Given the description of an element on the screen output the (x, y) to click on. 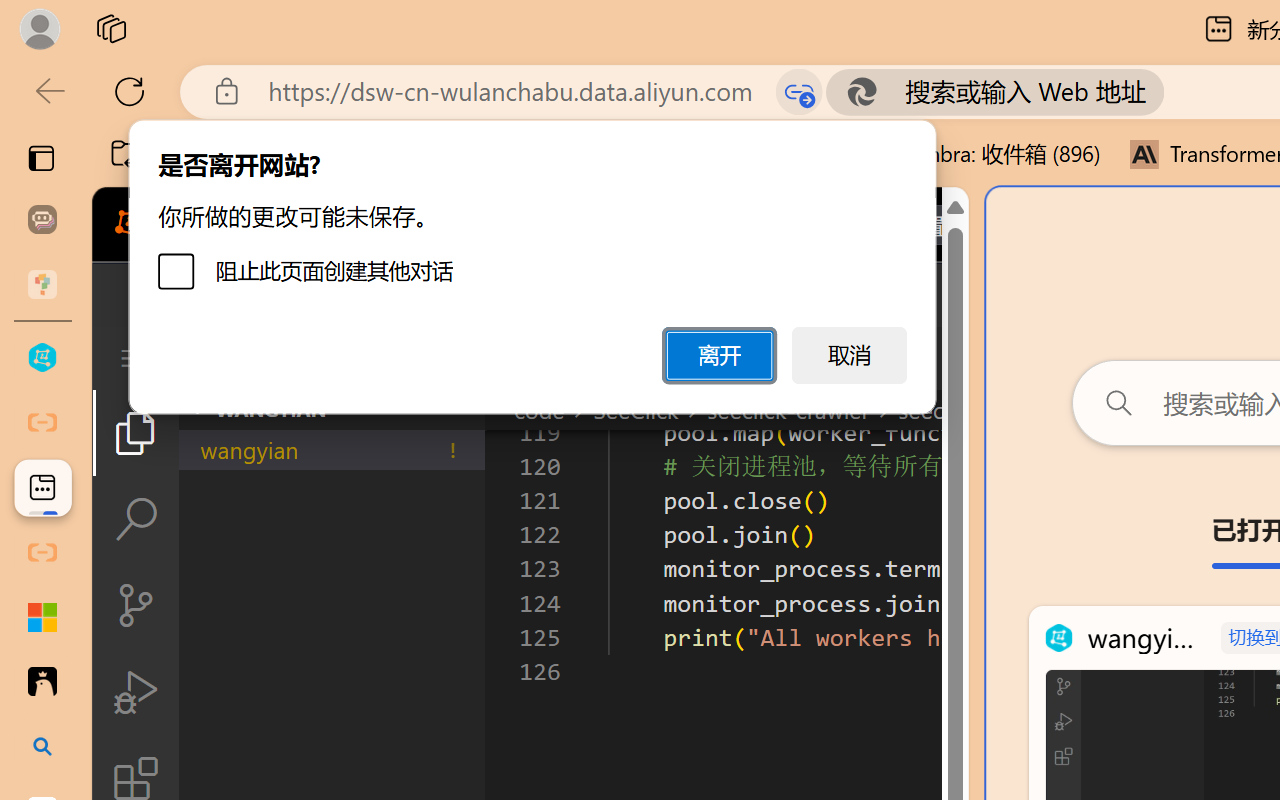
Run and Debug (Ctrl+Shift+D) (135, 692)
Adjust indents and spacing - Microsoft Support (42, 617)
